Given the description of an element on the screen output the (x, y) to click on. 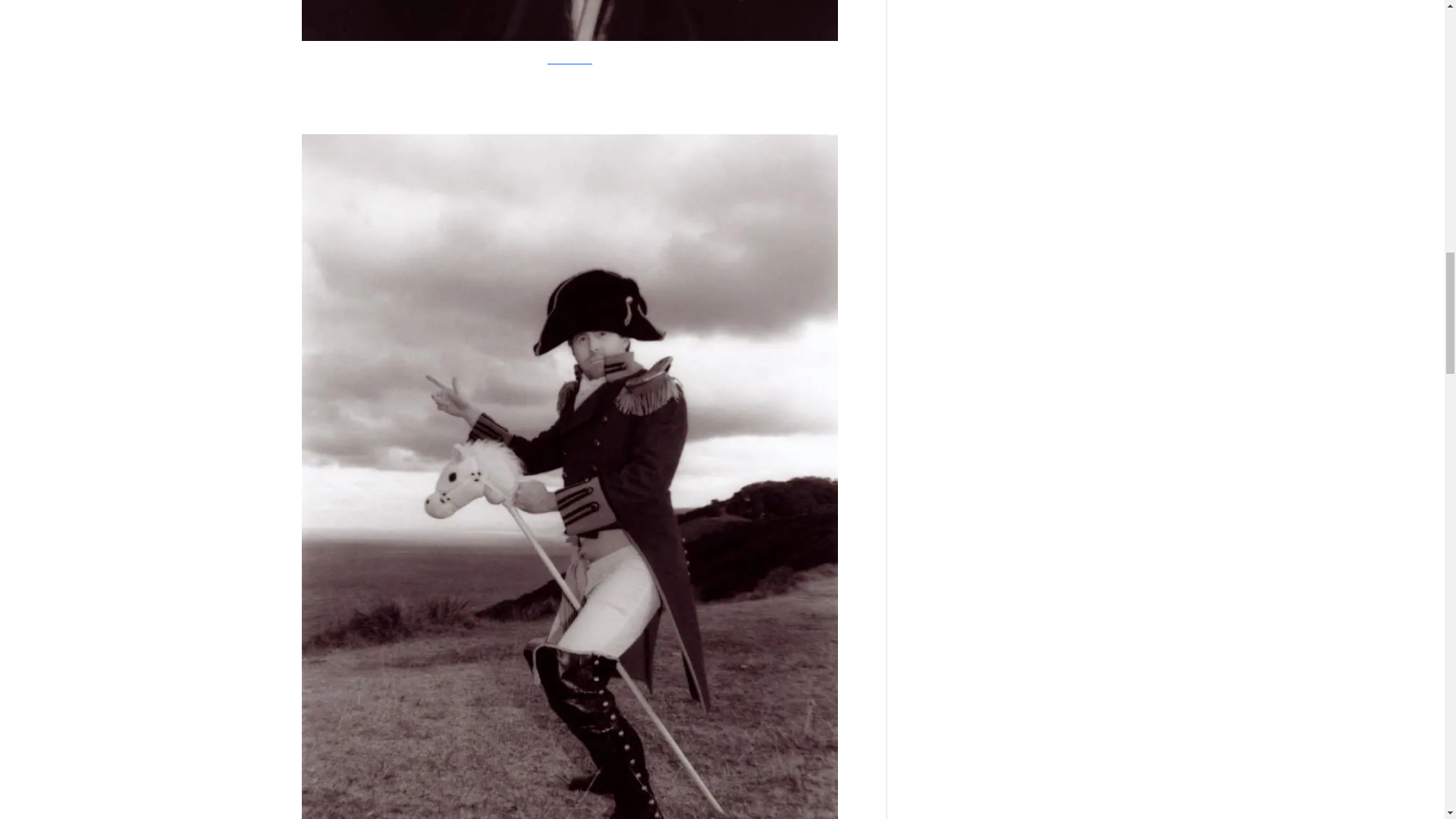
DarkHorseStudio (569, 56)
